Given the description of an element on the screen output the (x, y) to click on. 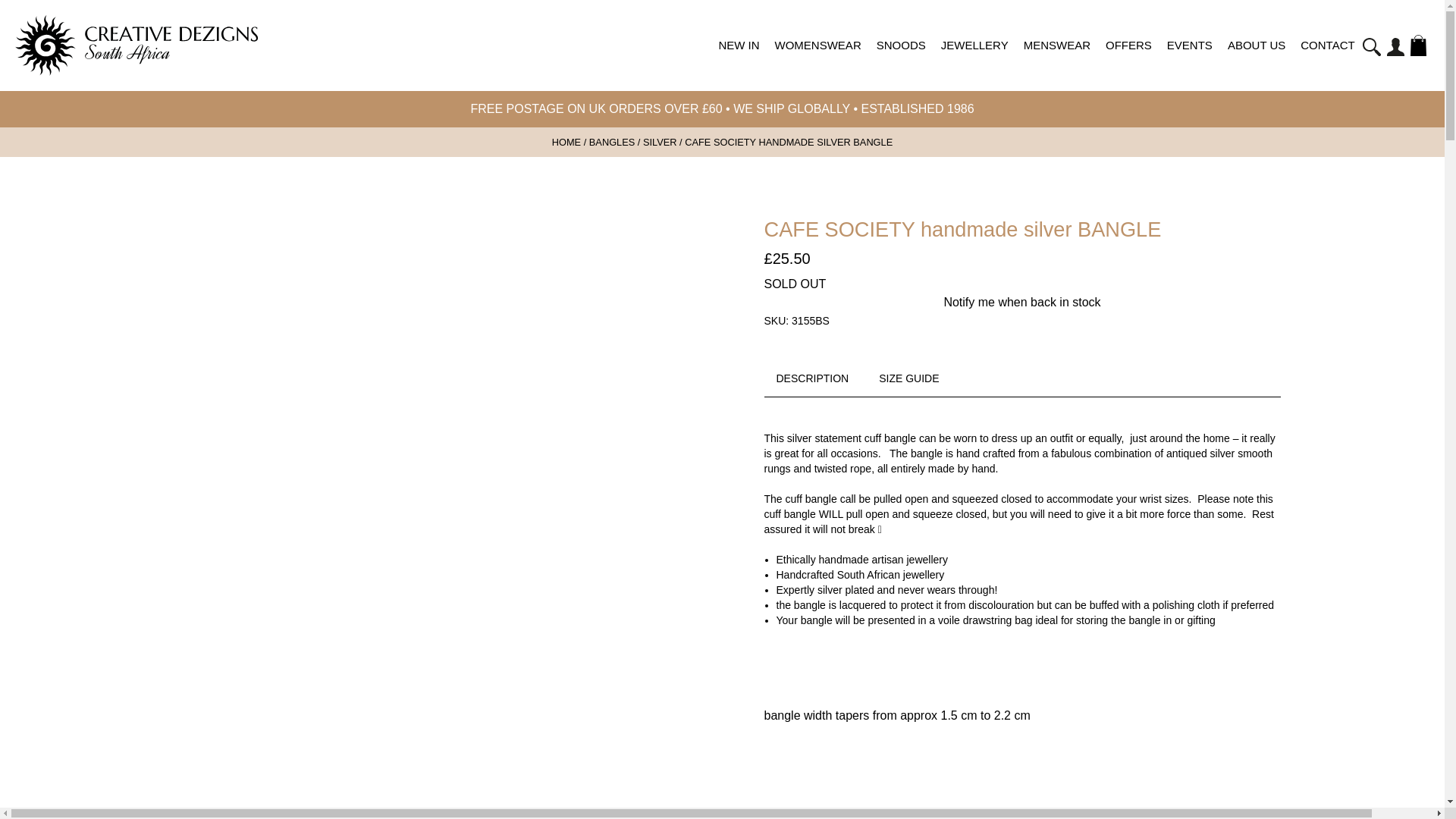
WOMENSWEAR (818, 60)
CONTACT (1326, 60)
MENSWEAR (1056, 60)
JEWELLERY (974, 60)
ABOUT US (1256, 60)
NEW IN (738, 60)
Search (1377, 54)
OFFERS (1127, 60)
EVENTS (1189, 60)
SNOODS (901, 60)
Notify me when back in stock (1022, 302)
